Given the description of an element on the screen output the (x, y) to click on. 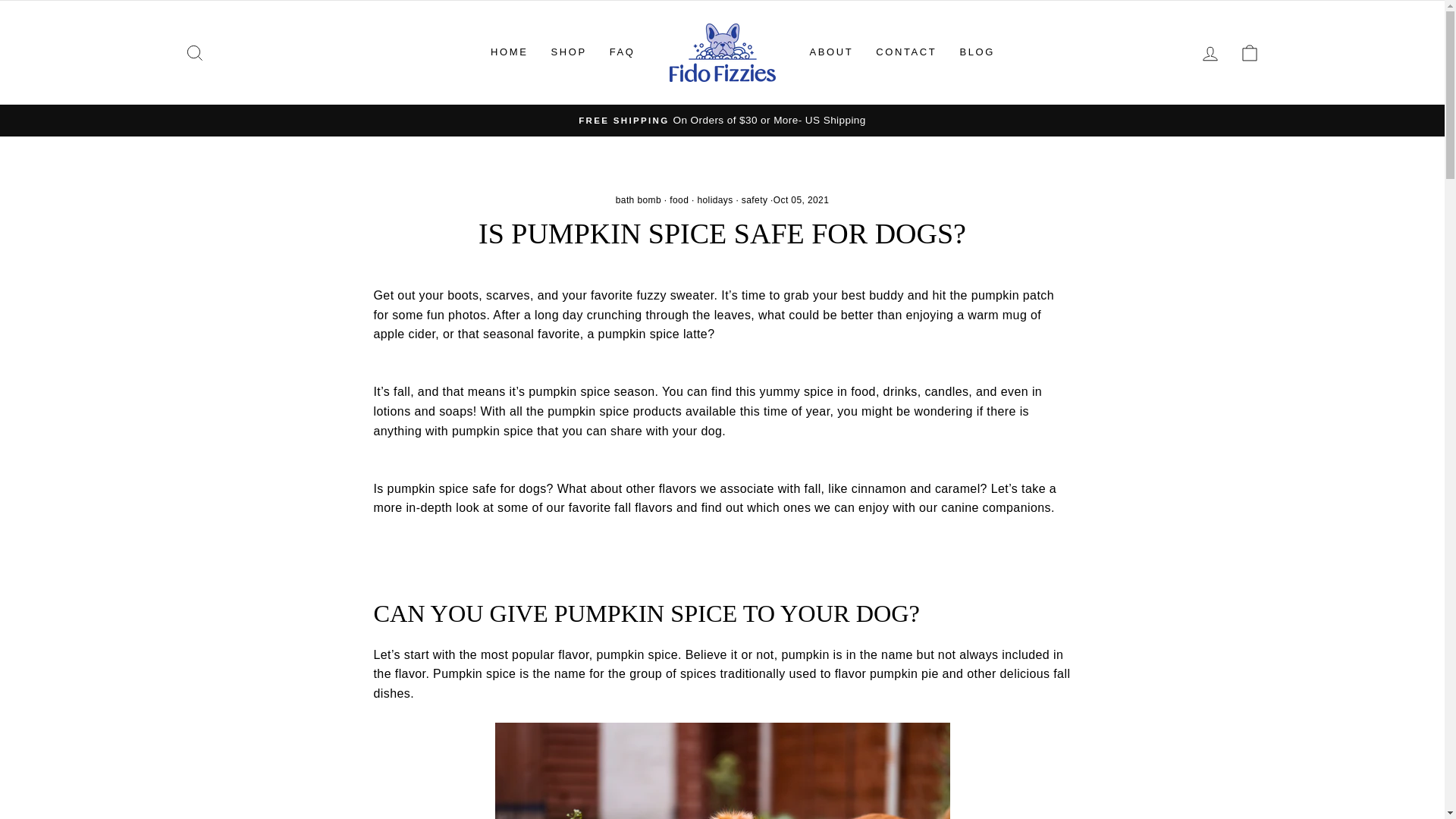
LOG IN (1210, 52)
CONTACT (905, 52)
BLOG (976, 52)
ABOUT (830, 52)
FAQ (622, 52)
CART (1249, 52)
HOME (508, 52)
SEARCH (194, 52)
SHOP (567, 52)
